Given the description of an element on the screen output the (x, y) to click on. 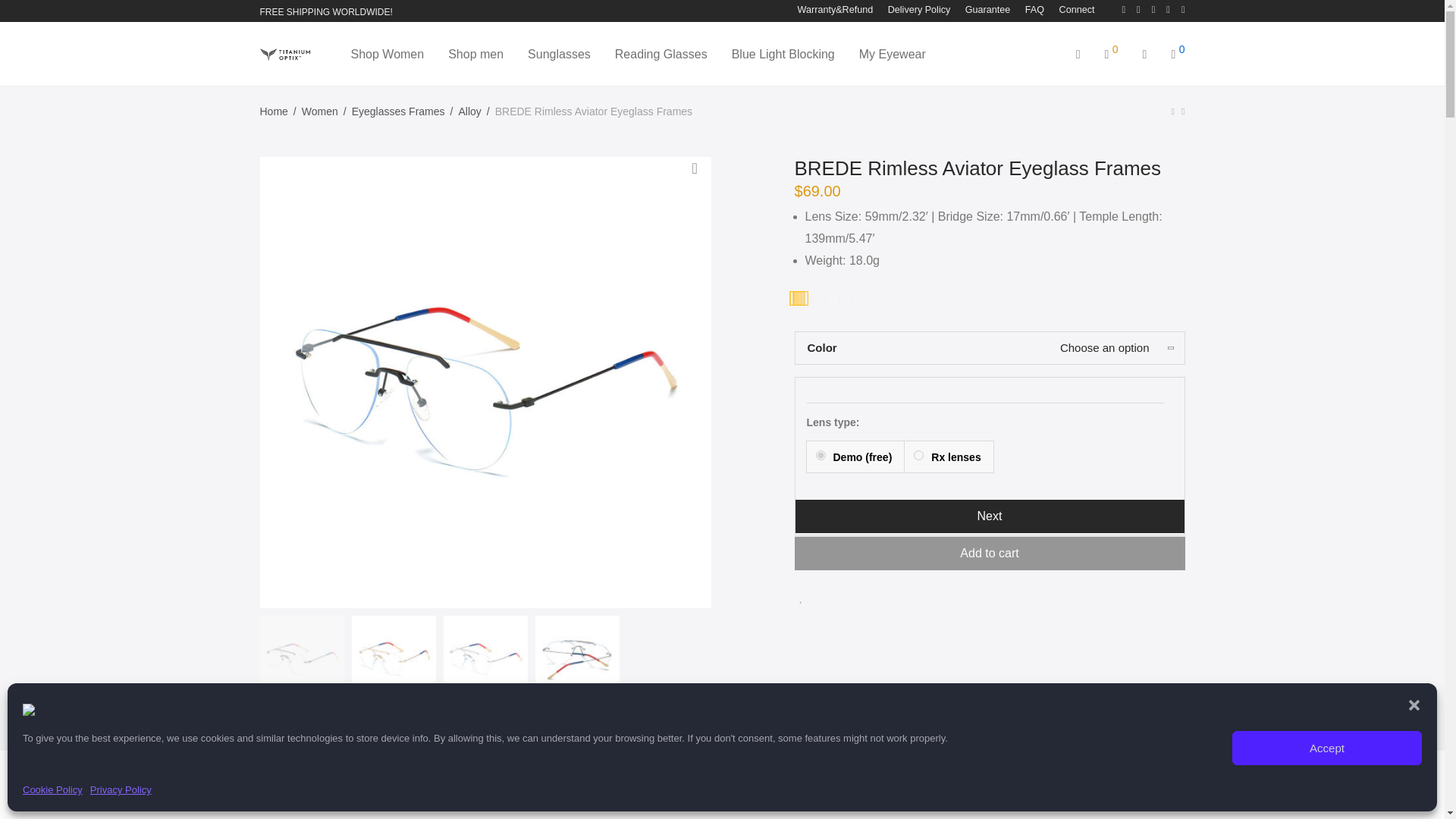
Cookie Policy (52, 790)
Shop Women (386, 54)
Accept (1326, 747)
Privacy Policy (120, 790)
ugkub (918, 455)
Connect (1072, 9)
Delivery Policy (919, 9)
oe6ql (820, 455)
FAQ (1034, 9)
Guarantee (987, 9)
